Given the description of an element on the screen output the (x, y) to click on. 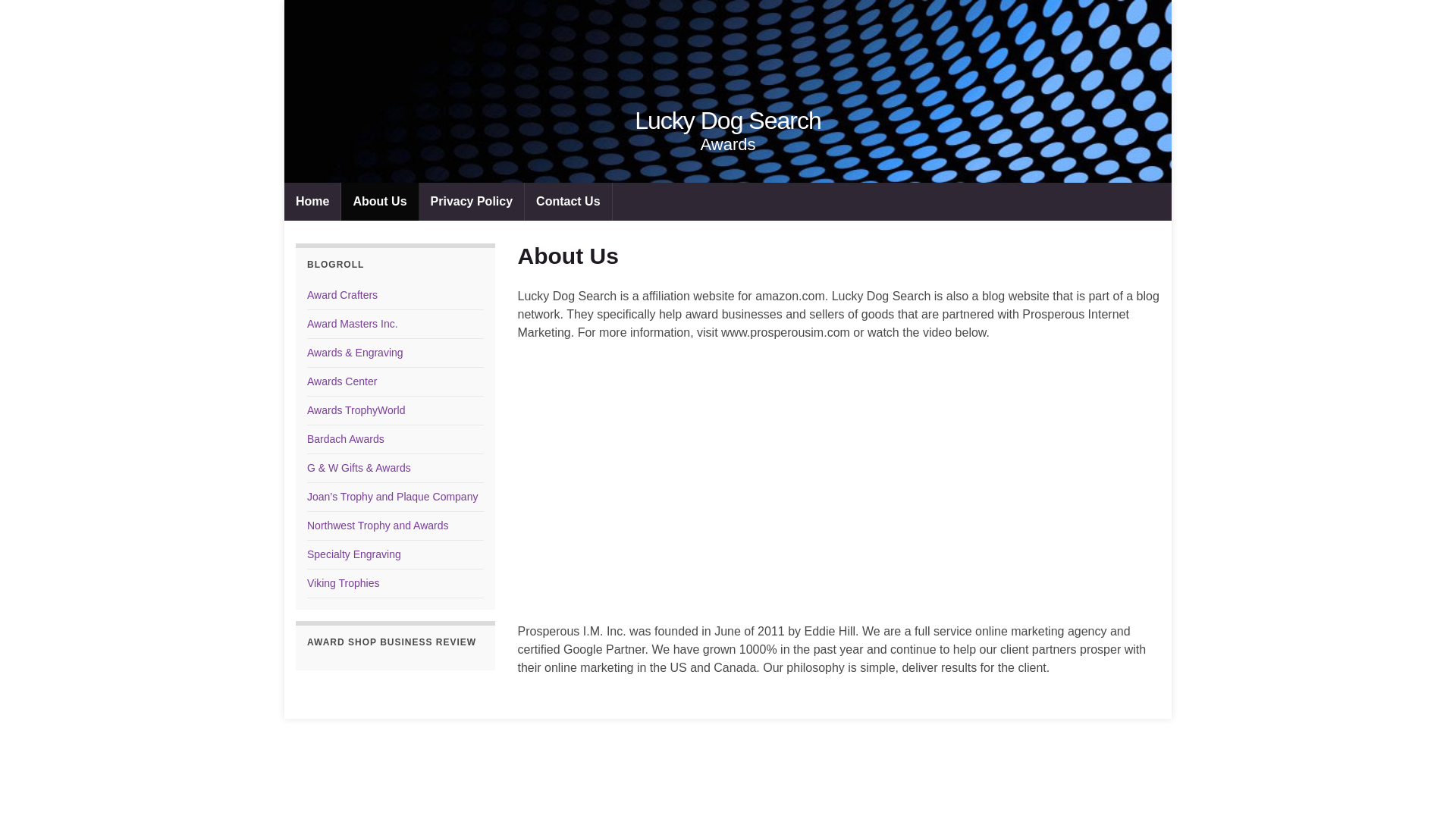
Privacy Policy (471, 201)
About Us (378, 201)
Awards Center (342, 381)
Specialty Engraving (354, 553)
Go back to the front page (727, 120)
Home (311, 201)
Viking Trophies (342, 582)
Contact Us (567, 201)
Award Crafters (342, 295)
